Given the description of an element on the screen output the (x, y) to click on. 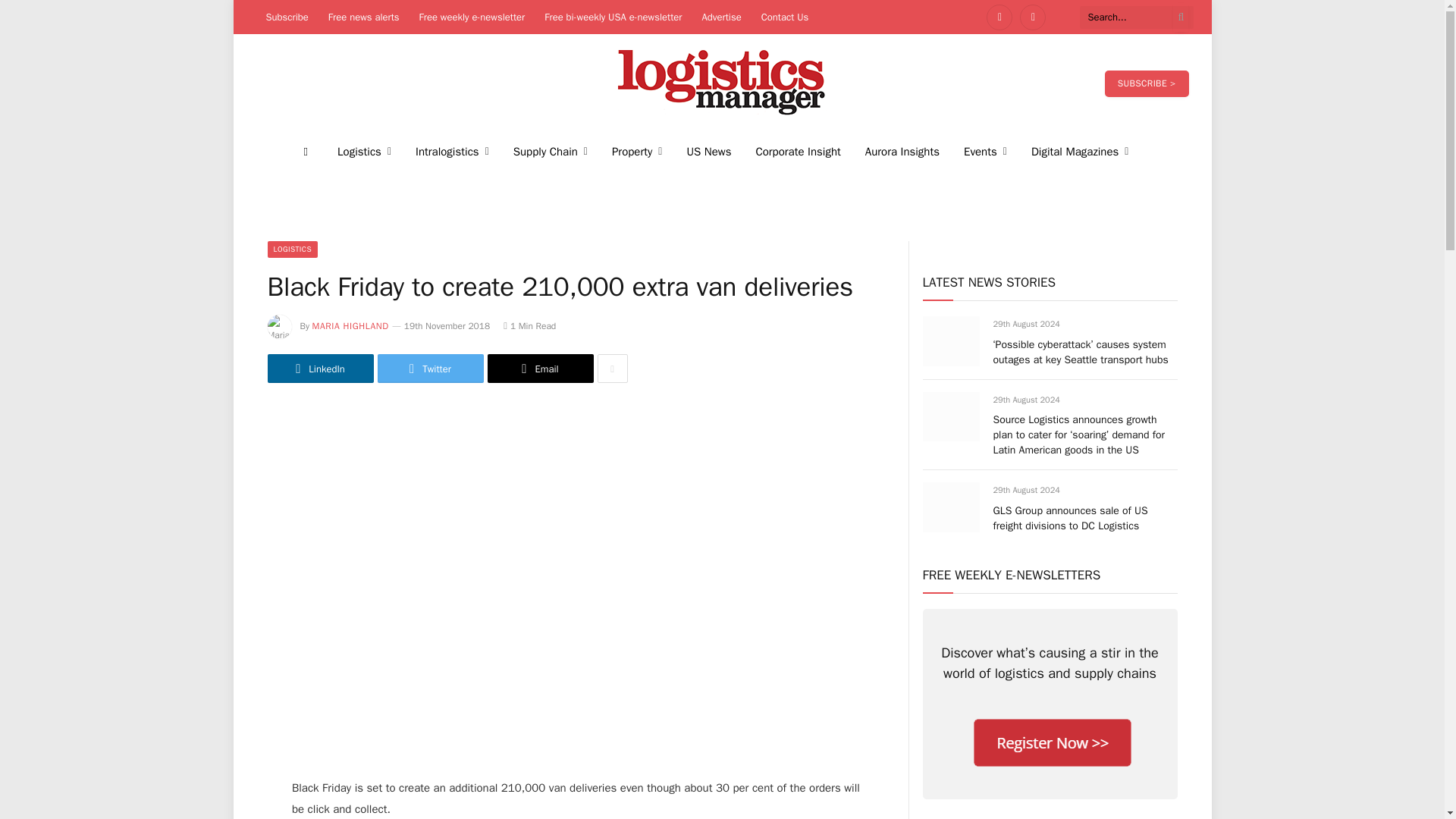
Show More Social Sharing (611, 368)
Logistics Manager (722, 83)
Share via Email (539, 368)
Posts by Maria Highland (350, 326)
Share on LinkedIn (319, 368)
